Given the description of an element on the screen output the (x, y) to click on. 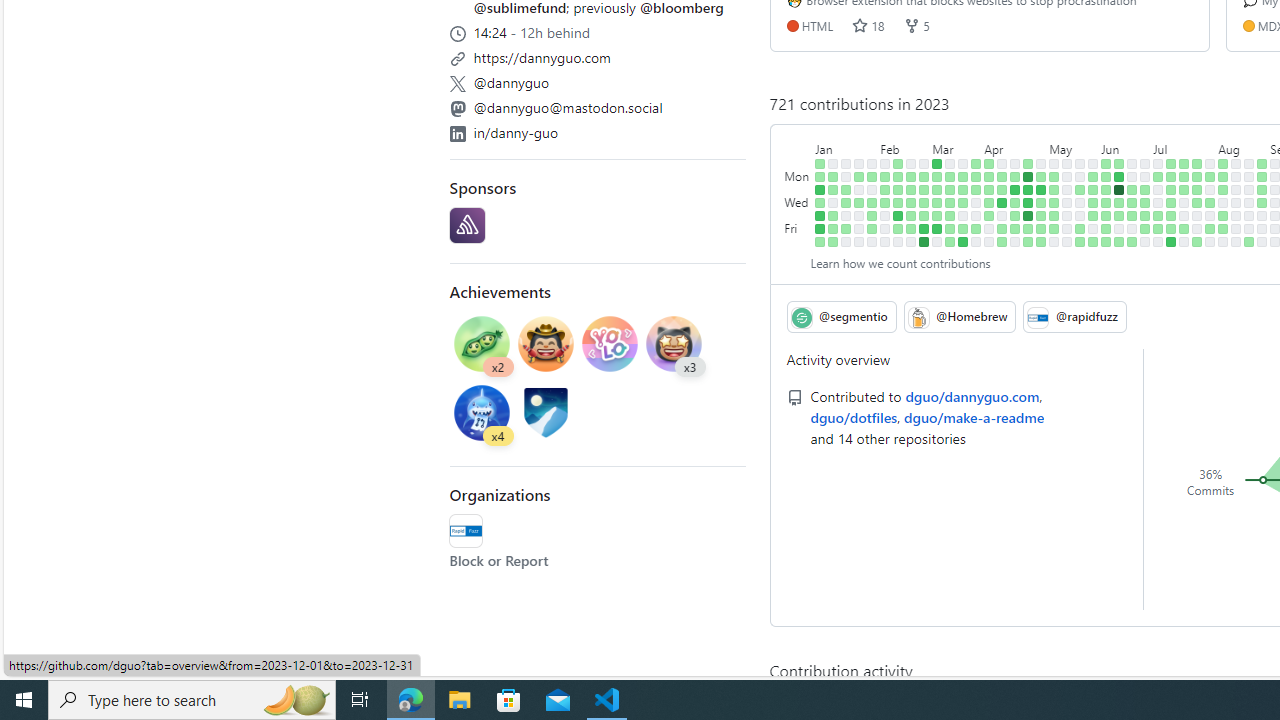
 @Homebrew (959, 316)
Mastodon (457, 108)
3 contributions on August 11th. (1223, 228)
1 contribution on August 2nd. (1210, 202)
No contributions on January 28th. (859, 241)
6 contributions on March 6th. (937, 176)
 @segmentio (841, 316)
1 contribution on March 22nd. (962, 202)
Thursday (797, 215)
No contributions on August 13th. (1236, 163)
1 contribution on April 10th. (1002, 176)
4 contributions on July 24th. (1197, 176)
No contributions on April 8th. (989, 241)
3 contributions on April 29th. (1028, 241)
No contributions on February 5th. (885, 163)
